Given the description of an element on the screen output the (x, y) to click on. 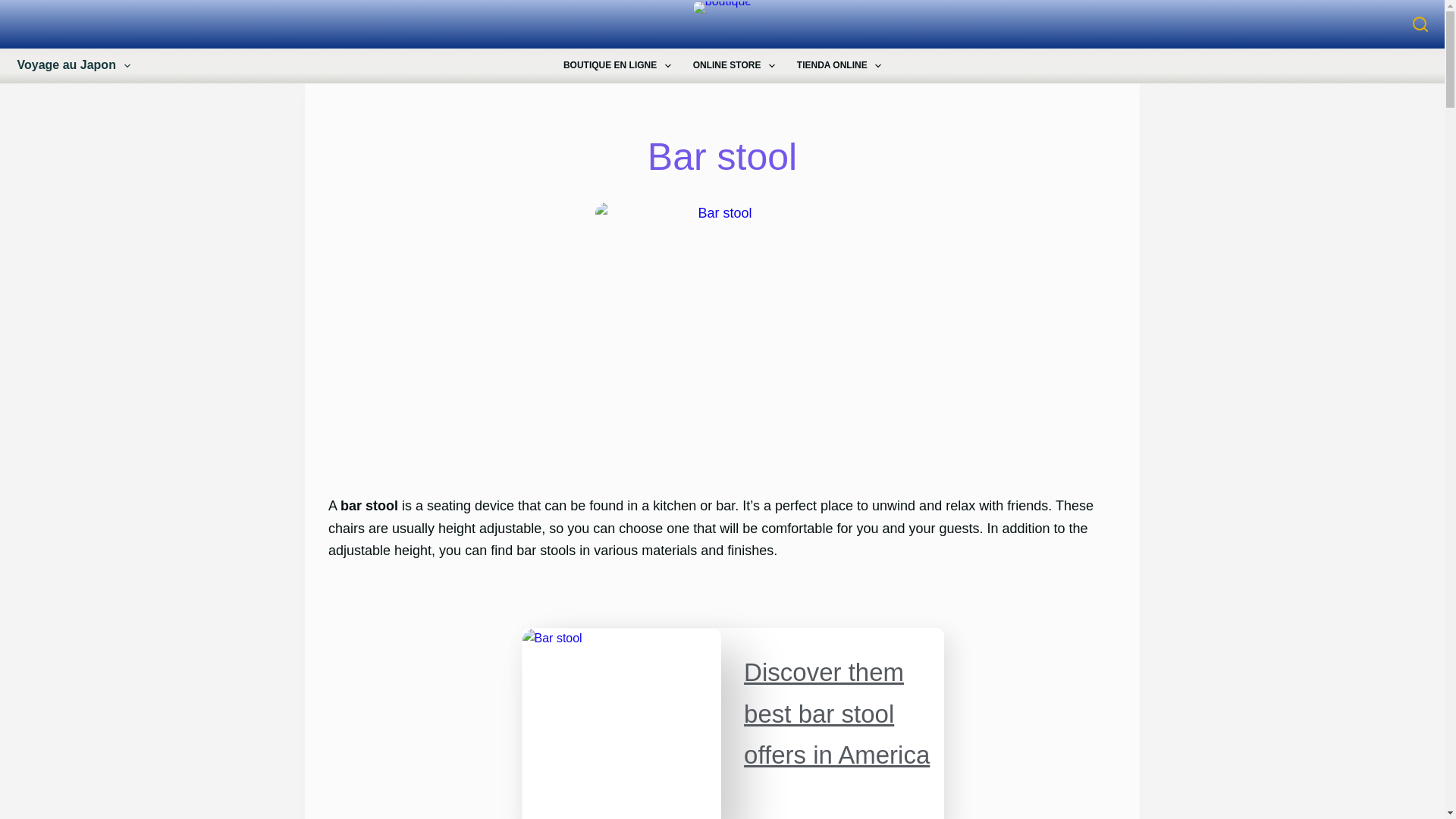
Passer au contenu (15, 7)
Voyage au Japon (82, 64)
Bar stool (721, 157)
